Given the description of an element on the screen output the (x, y) to click on. 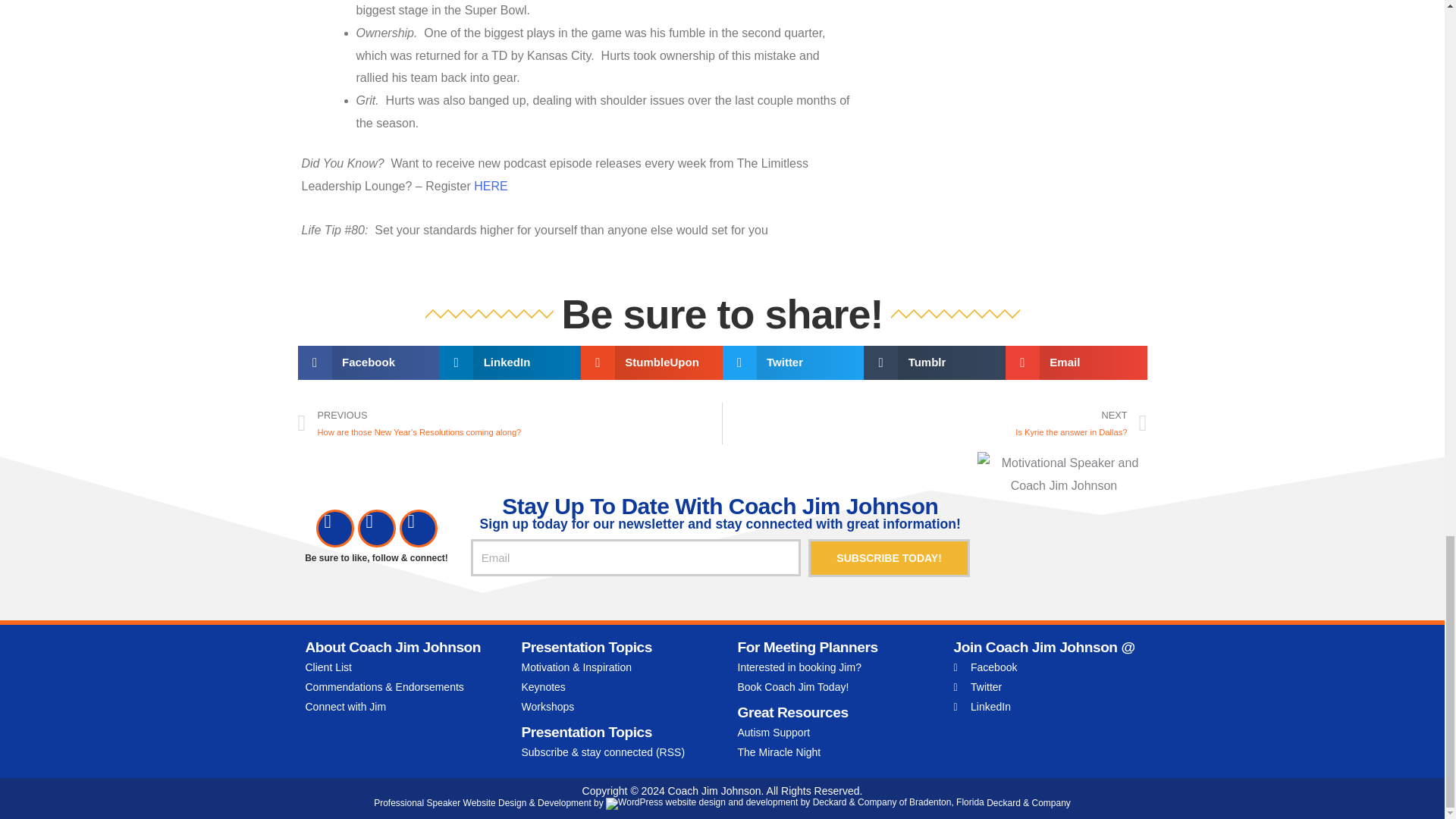
HERE (490, 185)
